Given the description of an element on the screen output the (x, y) to click on. 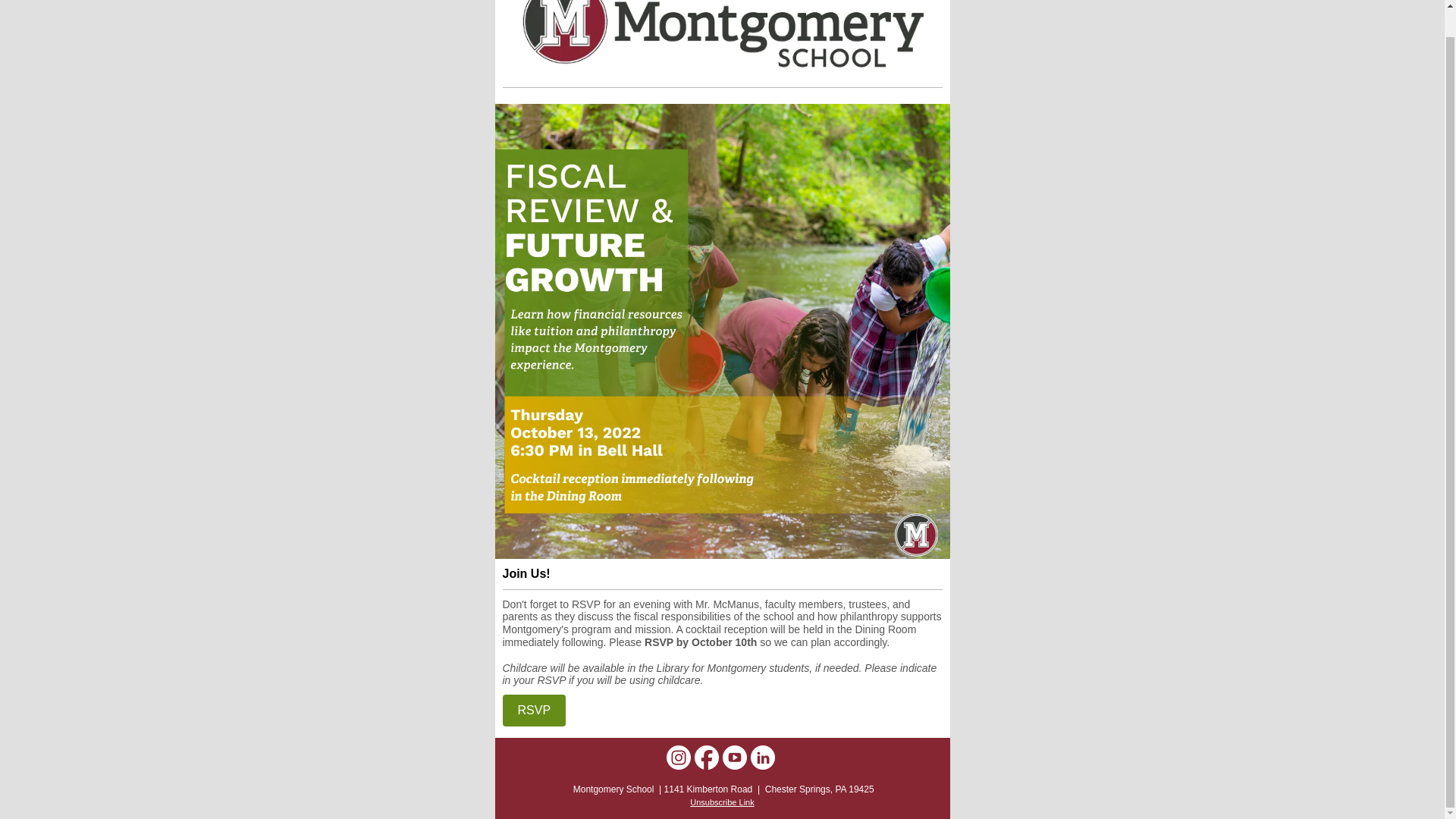
RSVP (534, 710)
Facebook (706, 757)
LinkedIn (762, 757)
YouTube (733, 757)
Instagram (677, 757)
Unsubscribe Link (722, 801)
Image (722, 38)
